Given the description of an element on the screen output the (x, y) to click on. 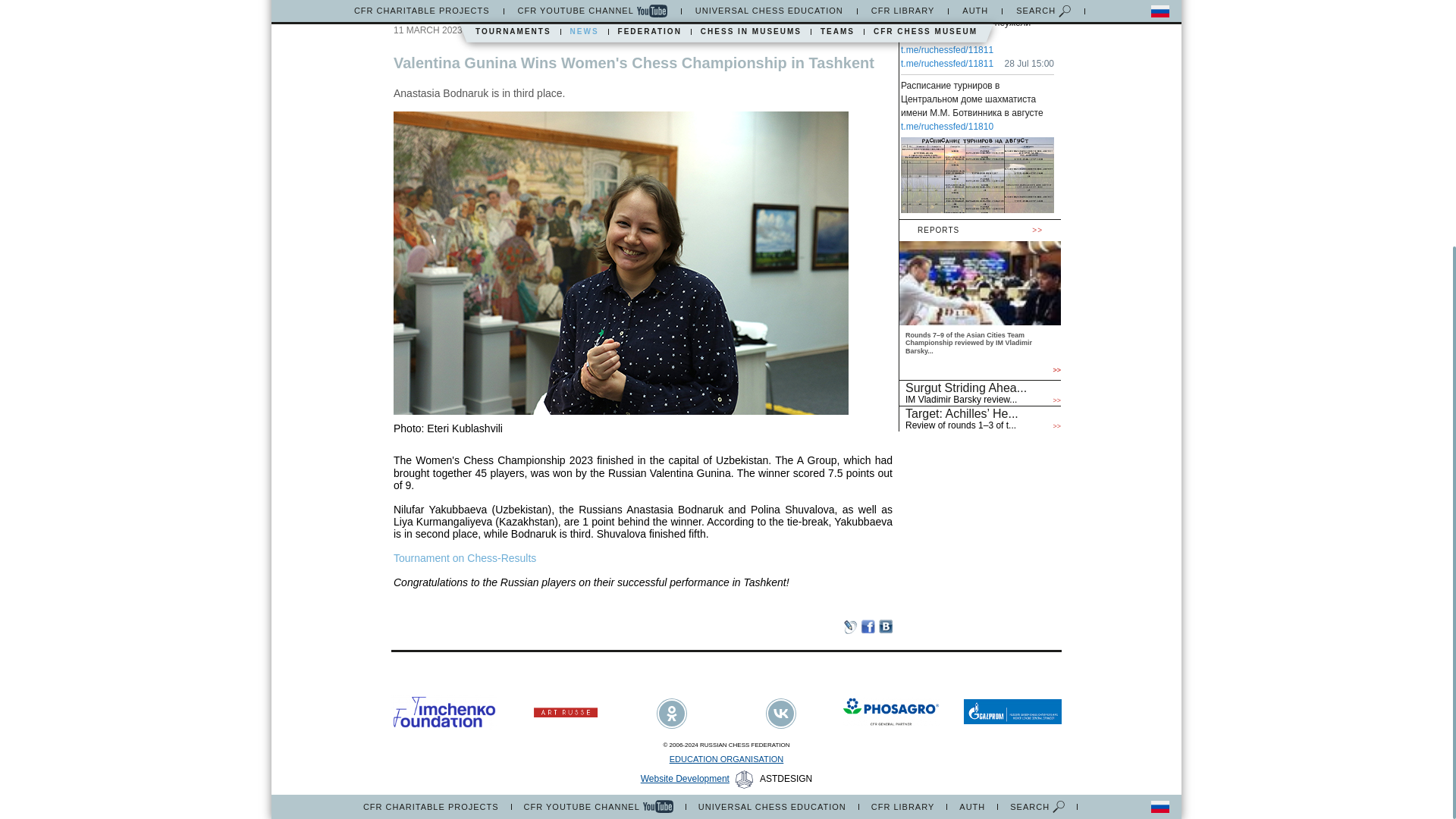
livejournal.com (850, 626)
